Given the description of an element on the screen output the (x, y) to click on. 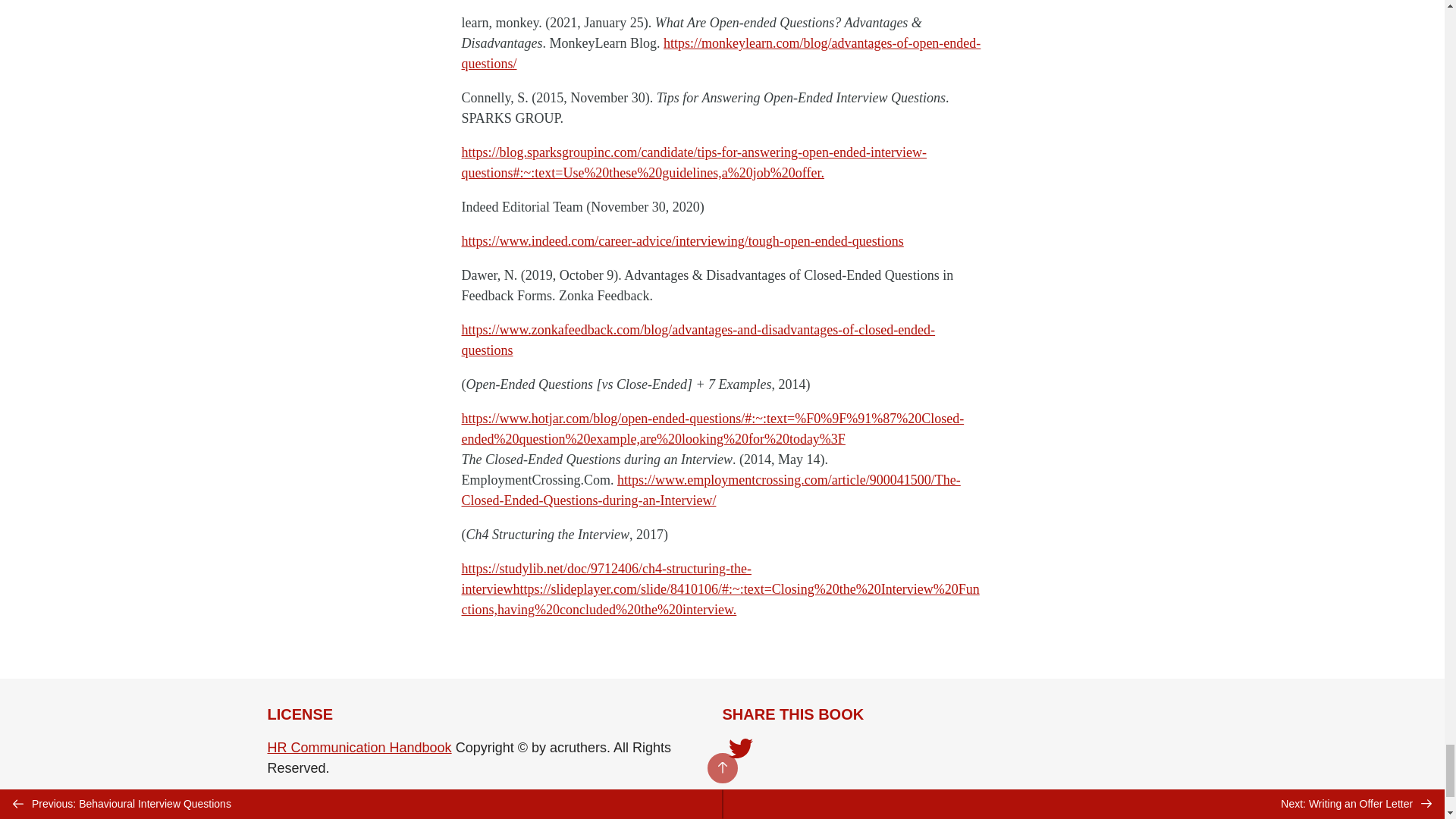
Share on Twitter (740, 752)
HR Communication Handbook (358, 747)
Share on Twitter (740, 749)
